Given the description of an element on the screen output the (x, y) to click on. 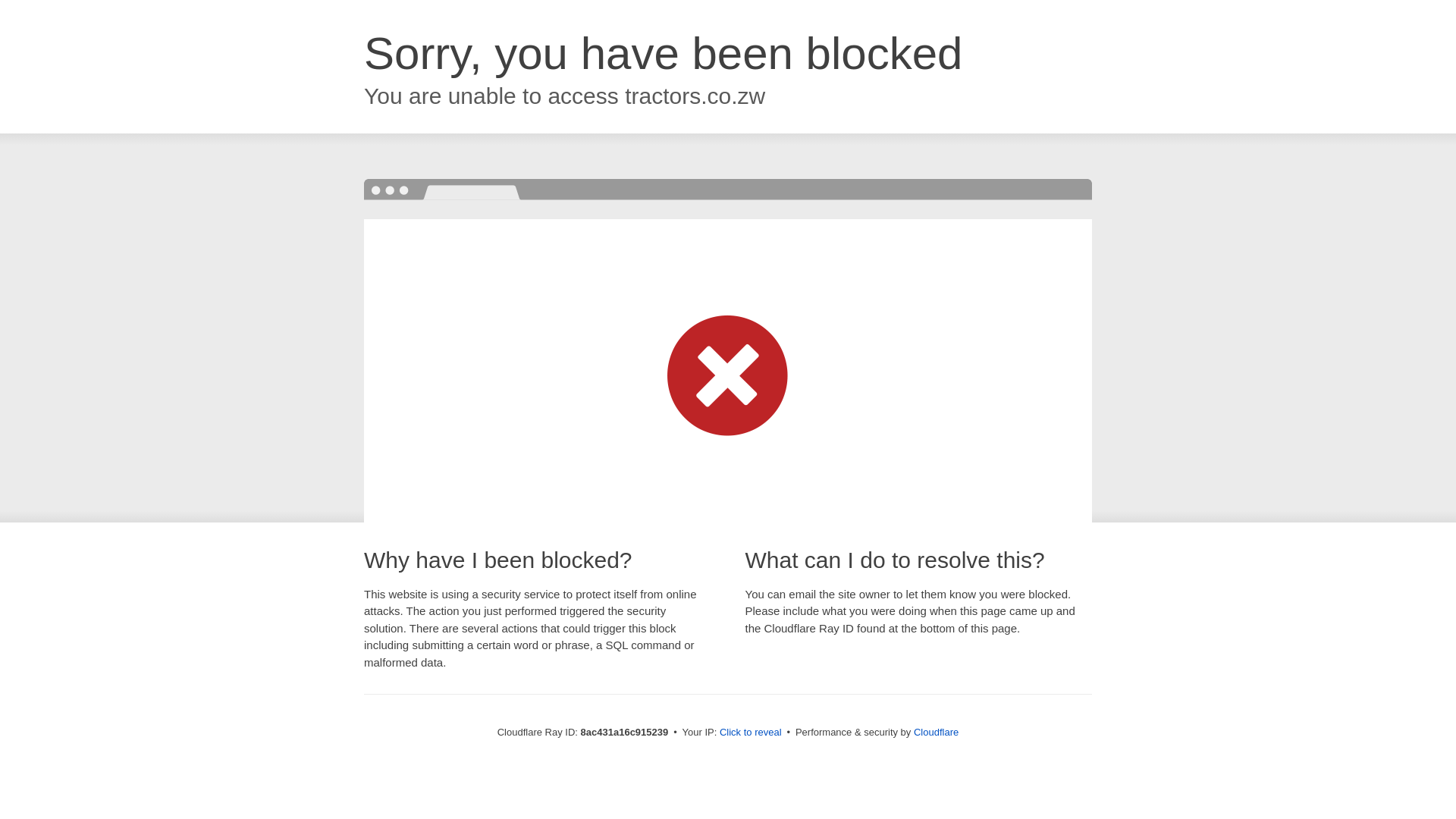
Cloudflare (936, 731)
Click to reveal (750, 732)
